Given the description of an element on the screen output the (x, y) to click on. 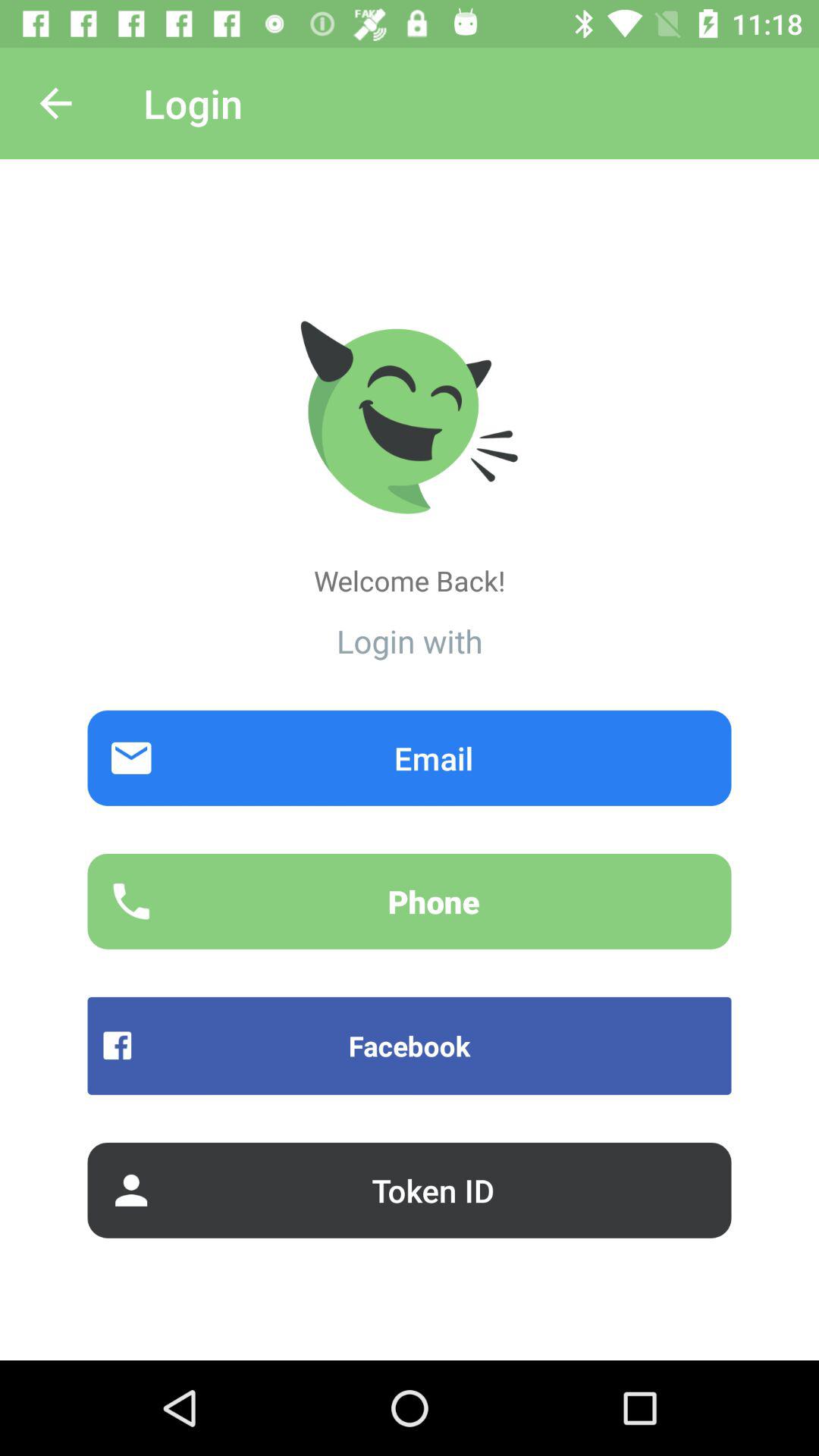
choose the item above phone (409, 757)
